Given the description of an element on the screen output the (x, y) to click on. 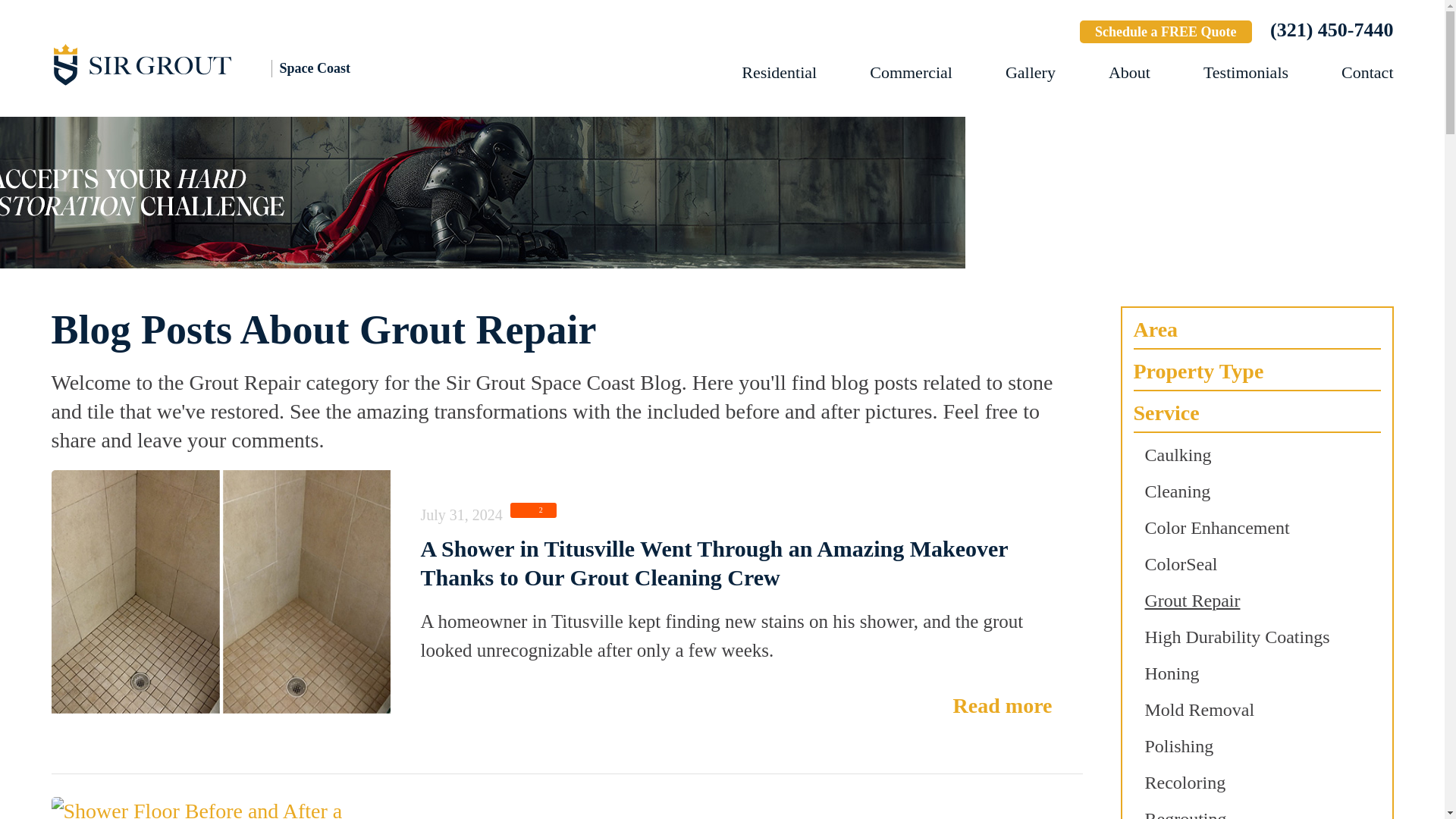
Gallery (1030, 72)
Residential (778, 72)
Write a Review (1013, 32)
Space Coast (217, 64)
Commercial (910, 72)
Sir Grout Space Coast (217, 64)
Schedule a FREE Quote (1166, 31)
Residential Services (778, 72)
Schedule a FREE Quote (1166, 31)
Write a Review (1013, 32)
